Given the description of an element on the screen output the (x, y) to click on. 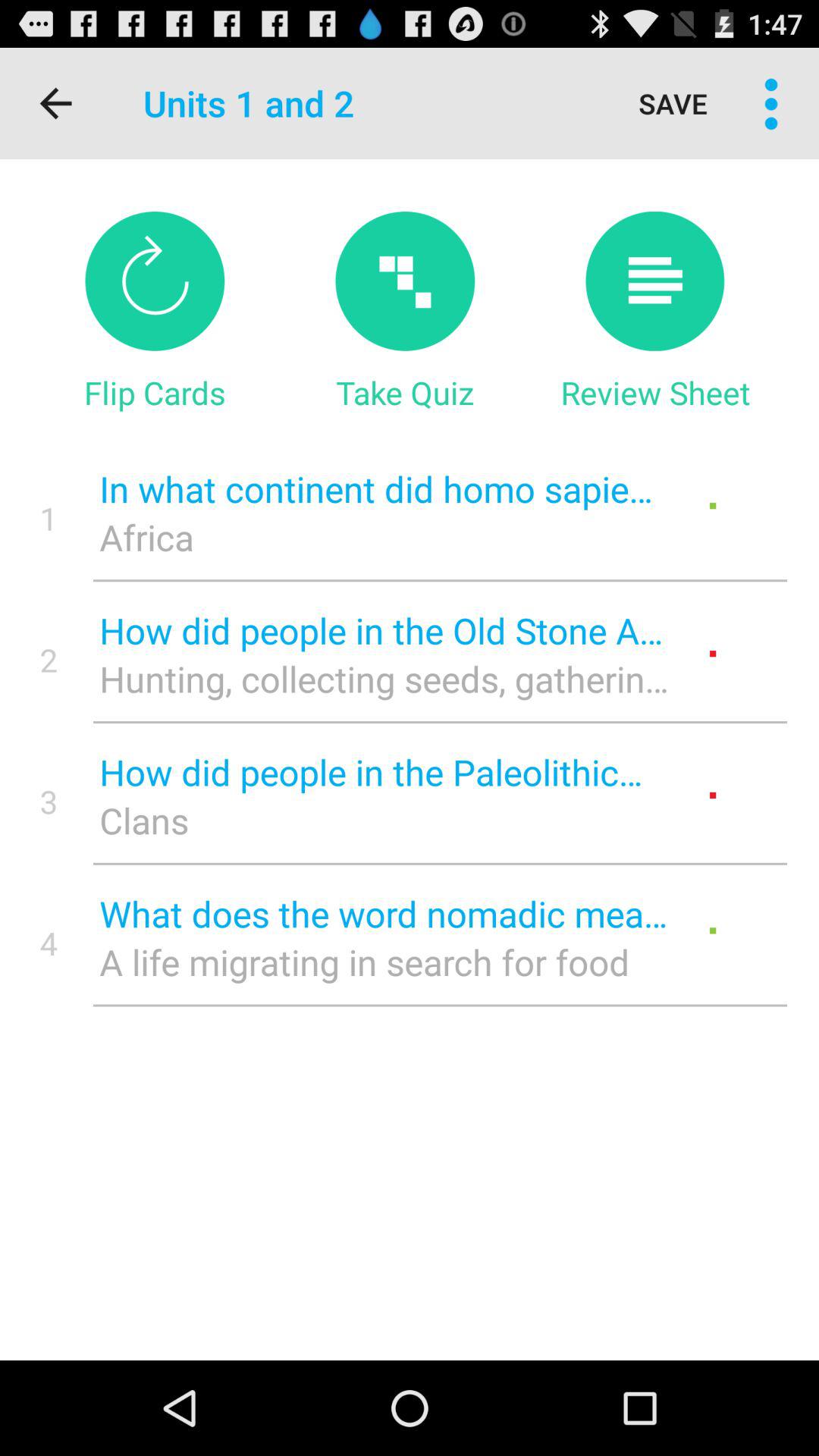
press icon next to flip cards item (405, 392)
